Given the description of an element on the screen output the (x, y) to click on. 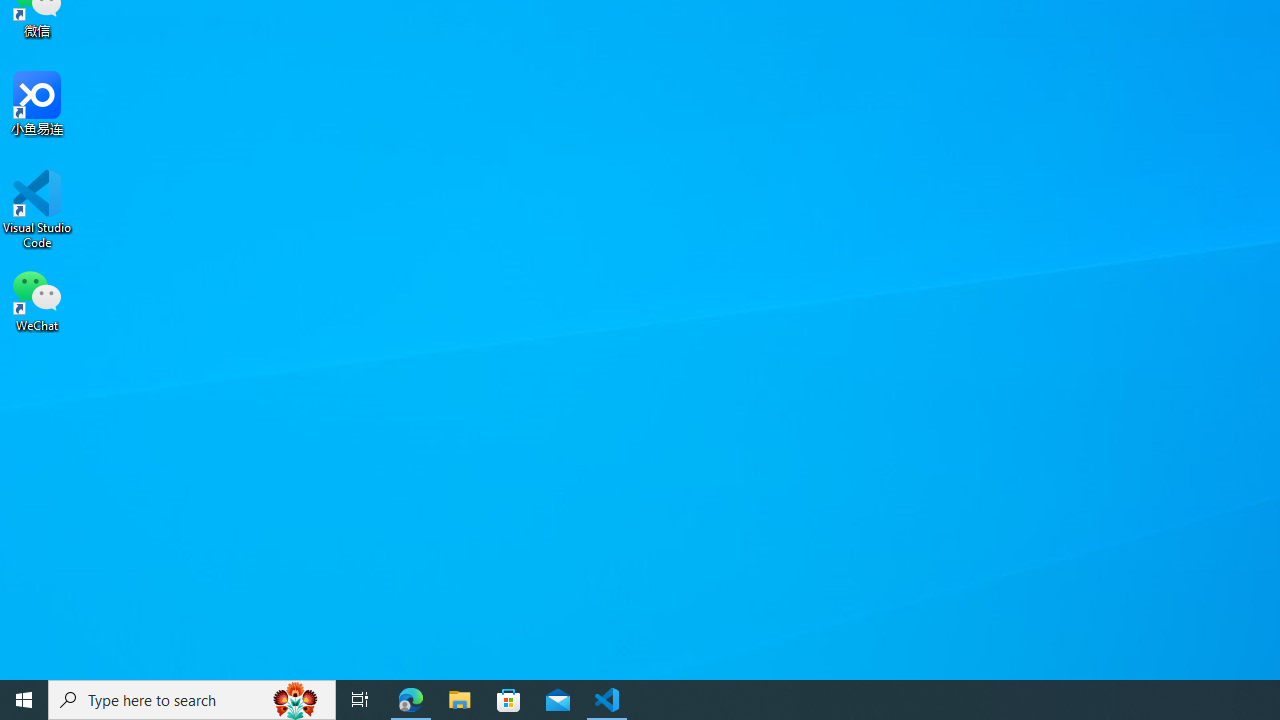
Microsoft Edge - 1 running window (411, 699)
Microsoft Store (509, 699)
Type here to search (191, 699)
Search highlights icon opens search home window (295, 699)
Task View (359, 699)
Visual Studio Code - 1 running window (607, 699)
File Explorer (460, 699)
Visual Studio Code (37, 209)
Start (24, 699)
WeChat (37, 299)
